Given the description of an element on the screen output the (x, y) to click on. 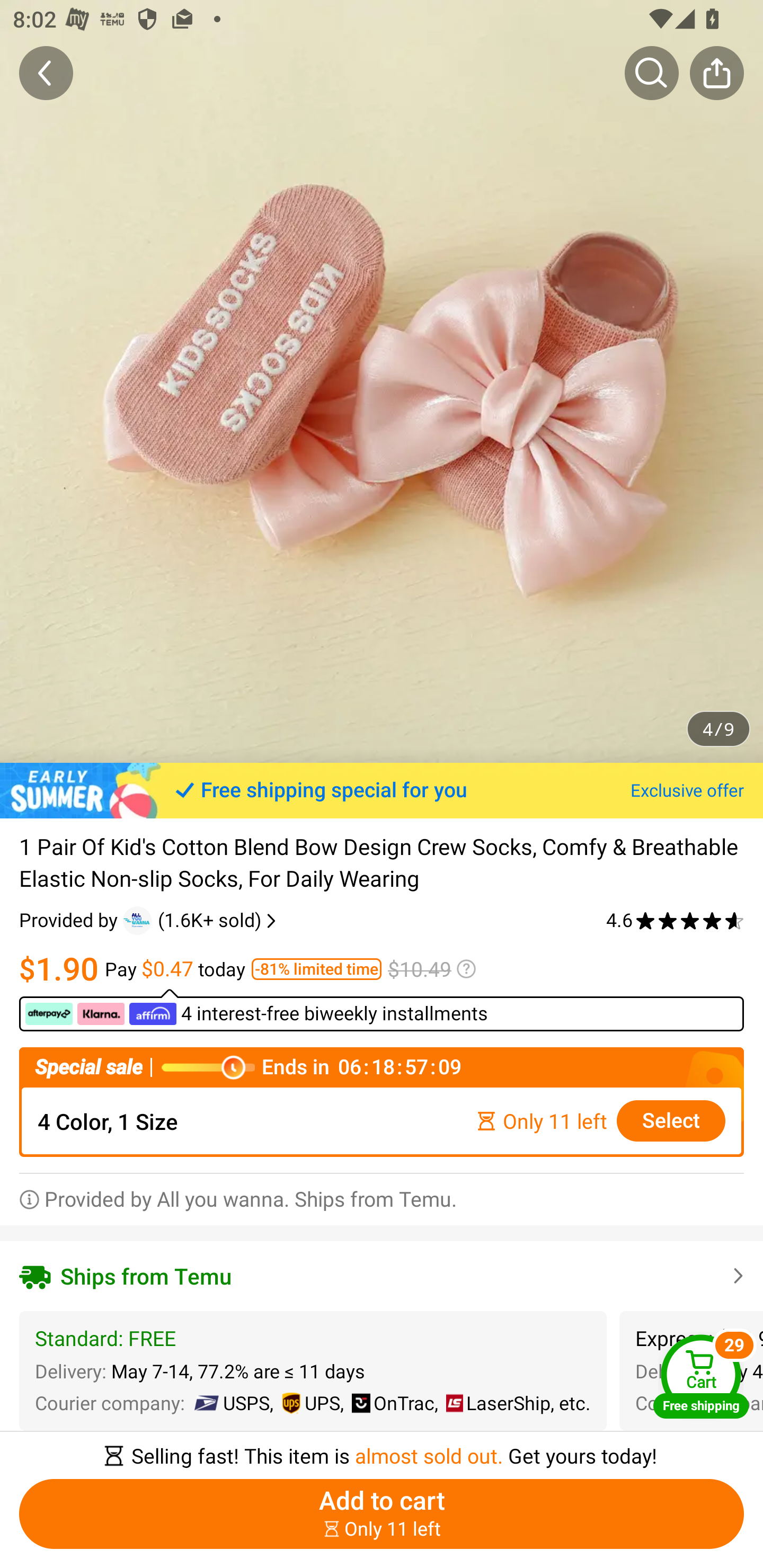
Back (46, 72)
Share (716, 72)
Free shipping special for you Exclusive offer (381, 790)
By null(1.6K+ sold) Provided by  (1.6K+ sold) (149, 920)
Provided by  (70, 920)
4.6 (674, 920)
￼ ￼ ￼ 4 interest-free biweekly installments (381, 1009)
Special sale Ends in￼￼ (381, 1067)
4 Color, 1 Size   Only 11 left Select (381, 1121)
Select (670, 1120)
Ships from Temu (381, 1275)
Cart Free shipping Cart (701, 1375)
Add to cart ￼￼Only 11 left (381, 1513)
